Given the description of an element on the screen output the (x, y) to click on. 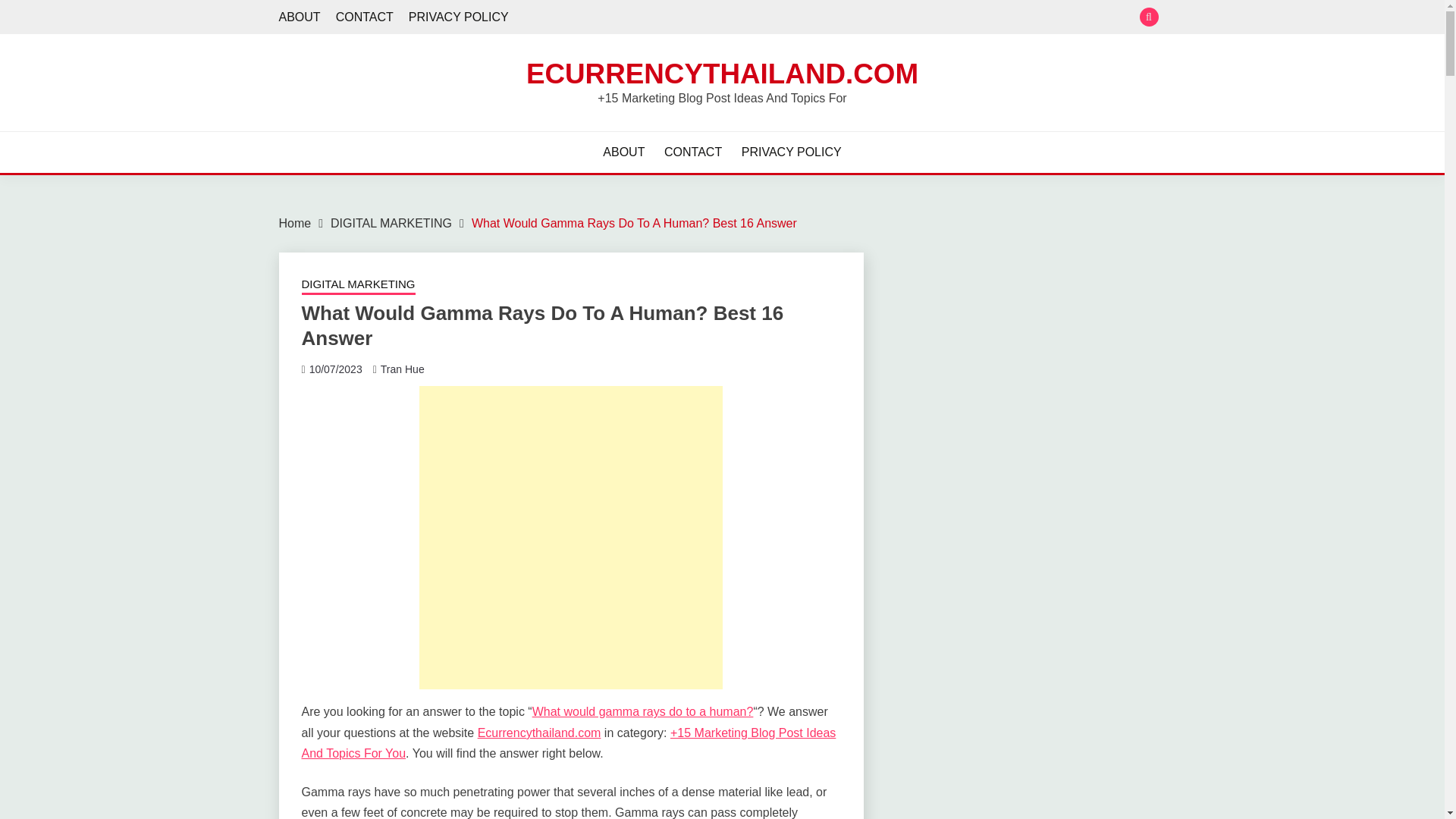
What Would Gamma Rays Do To A Human? Best 16 Answer (633, 223)
DIGITAL MARKETING (390, 223)
CONTACT (692, 152)
Search (832, 18)
ABOUT (299, 16)
What would gamma rays do to a human? (643, 711)
PRIVACY POLICY (791, 152)
Home (295, 223)
CONTACT (364, 16)
Advertisement (570, 537)
